Given the description of an element on the screen output the (x, y) to click on. 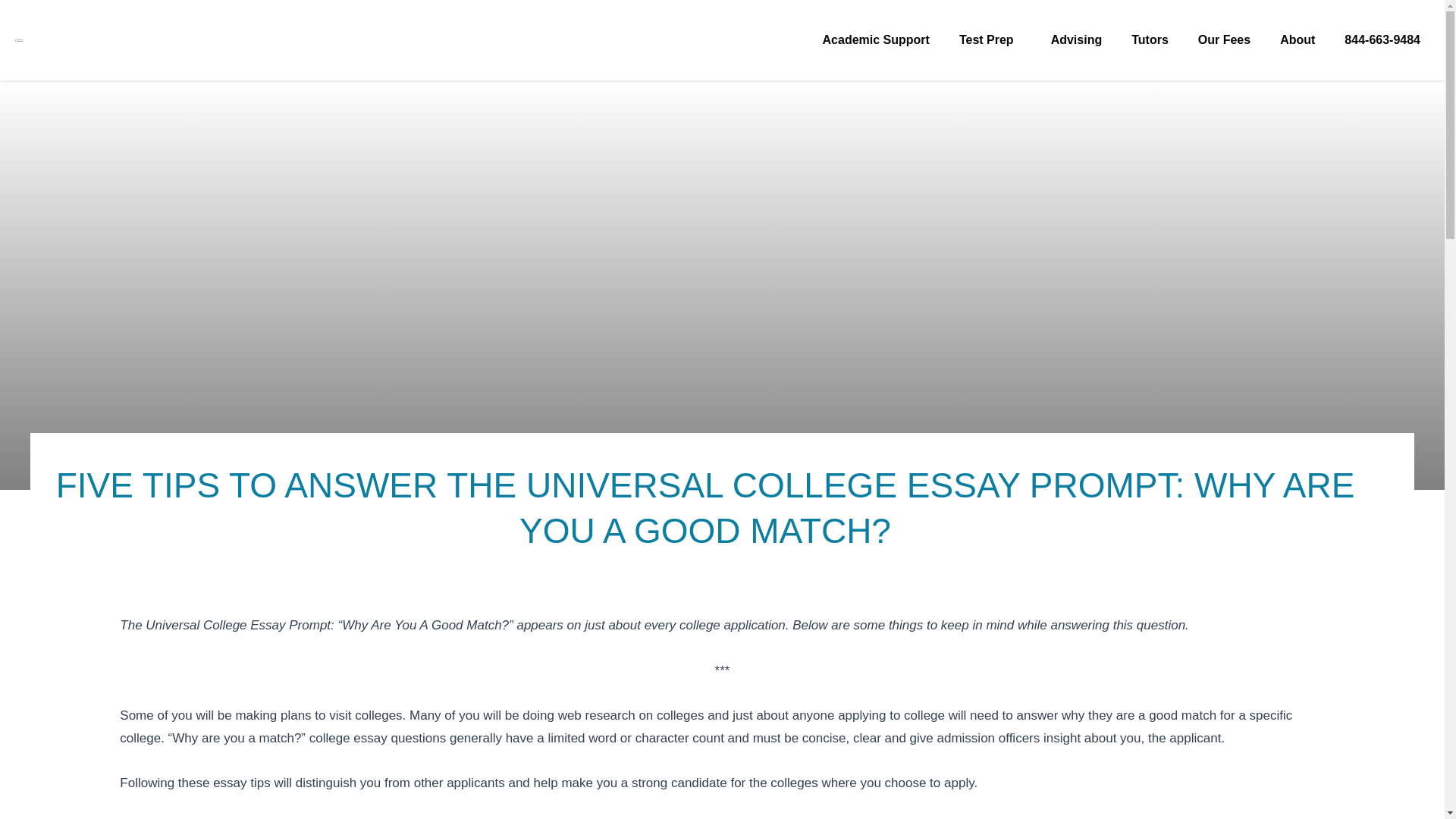
Academic Support (876, 40)
Test Prep (990, 40)
Tutors (1149, 40)
About (1297, 40)
844-663-9484 (1382, 40)
Advising (1077, 40)
Our Fees (1224, 40)
